Given the description of an element on the screen output the (x, y) to click on. 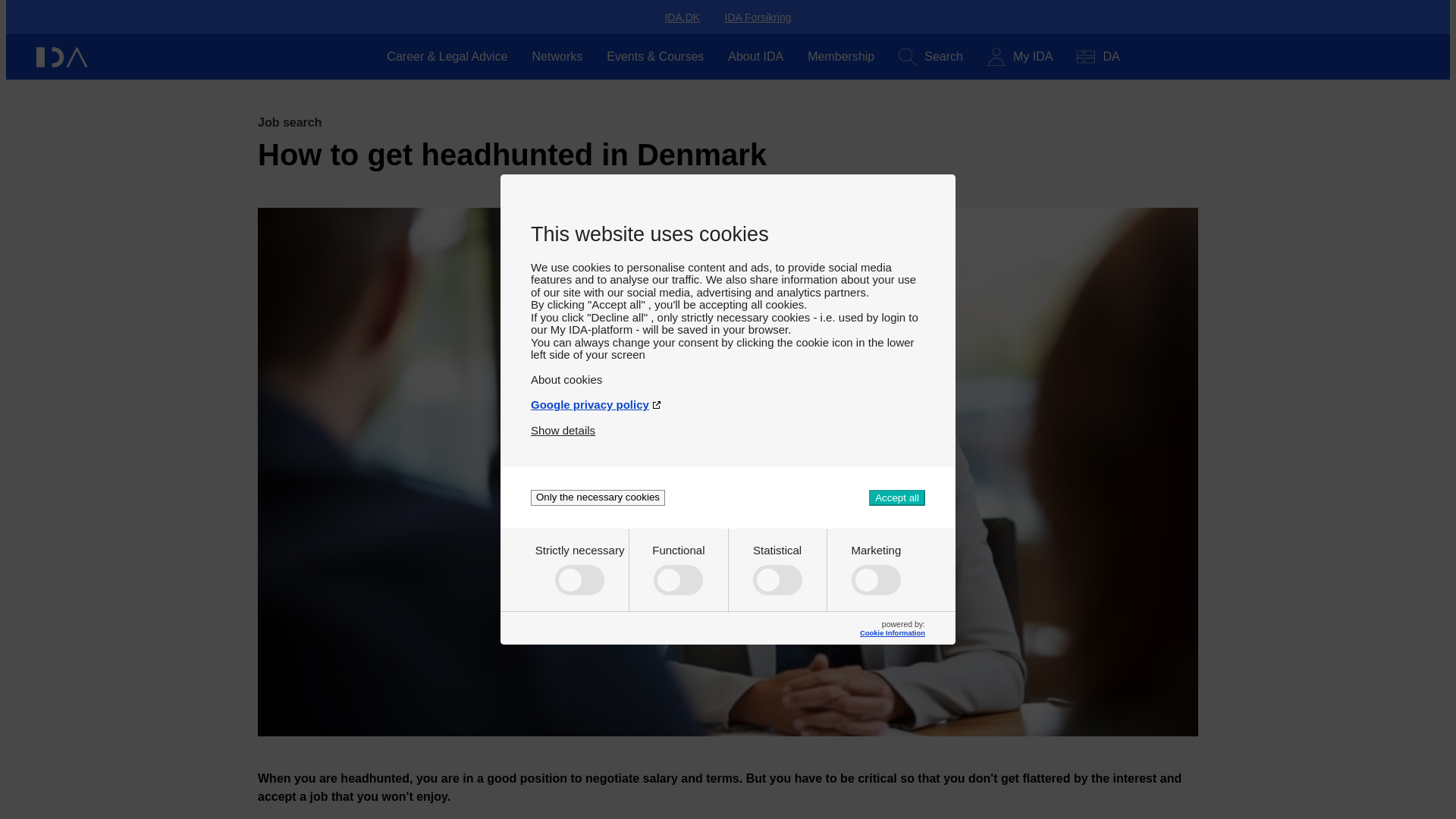
About cookies (727, 373)
Show details (563, 423)
Google privacy policy (727, 398)
